Given the description of an element on the screen output the (x, y) to click on. 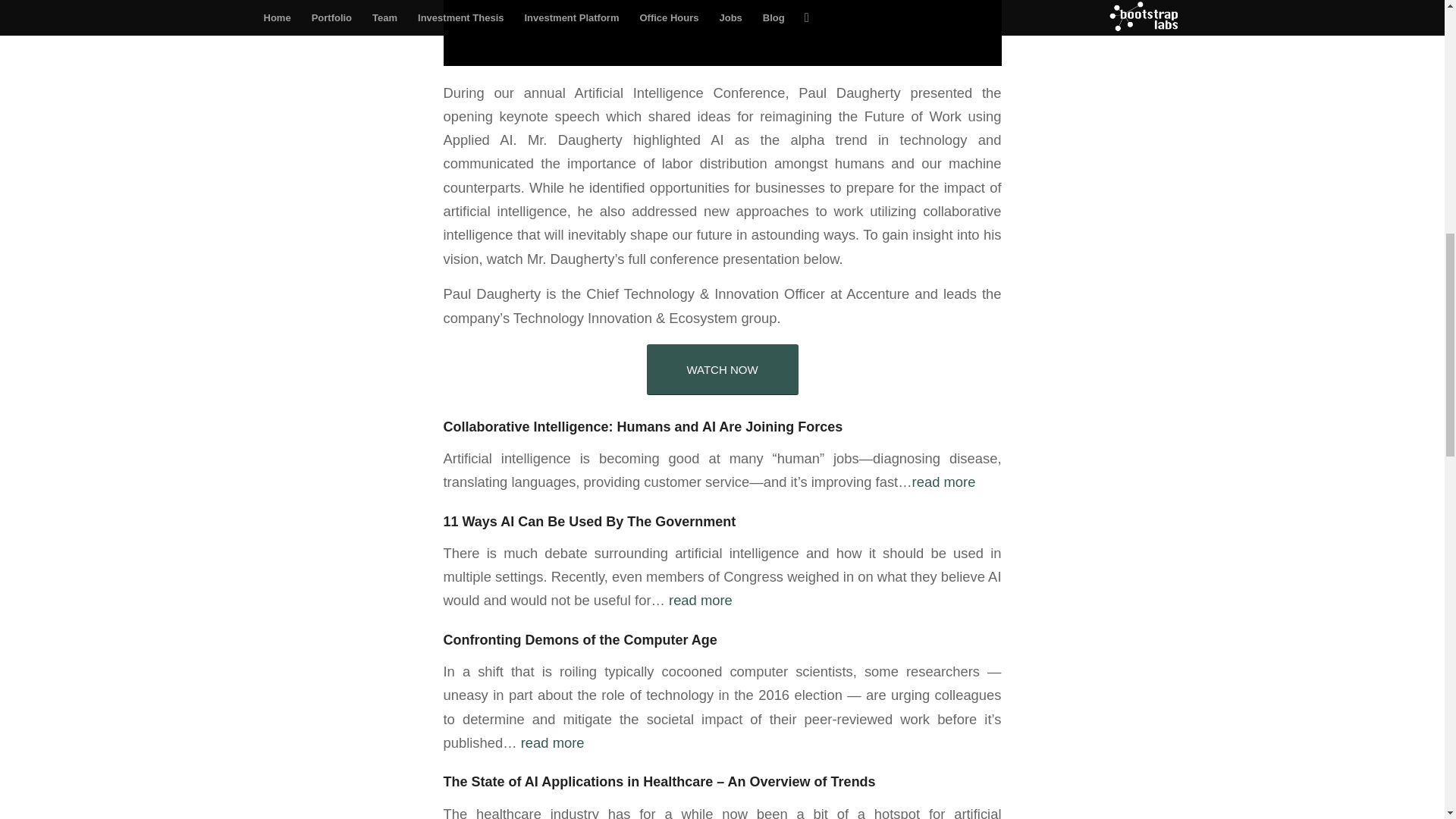
read more (943, 481)
WATCH NOW (721, 368)
read more (553, 742)
read more (700, 600)
